Given the description of an element on the screen output the (x, y) to click on. 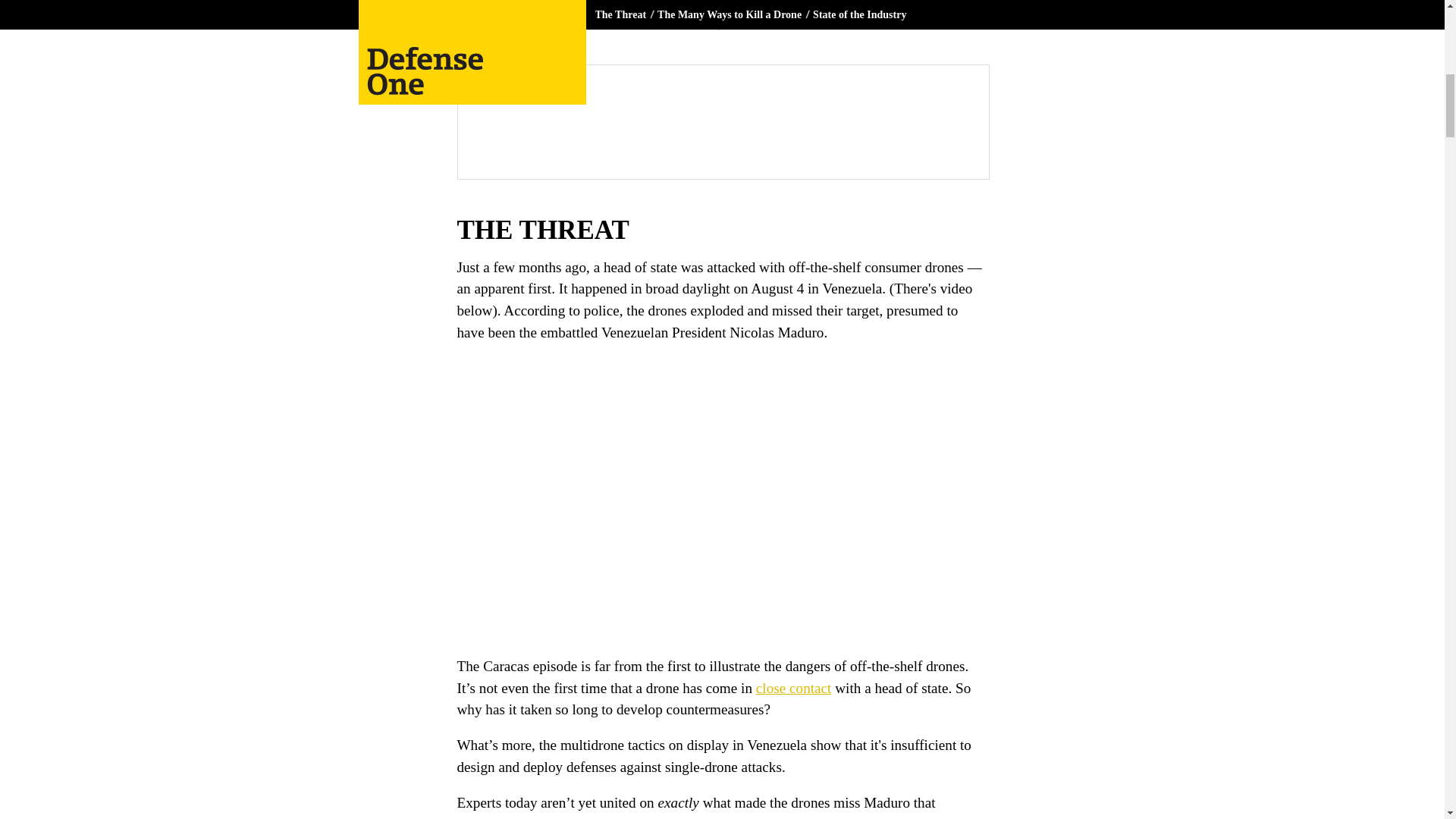
close contact (793, 688)
